Given the description of an element on the screen output the (x, y) to click on. 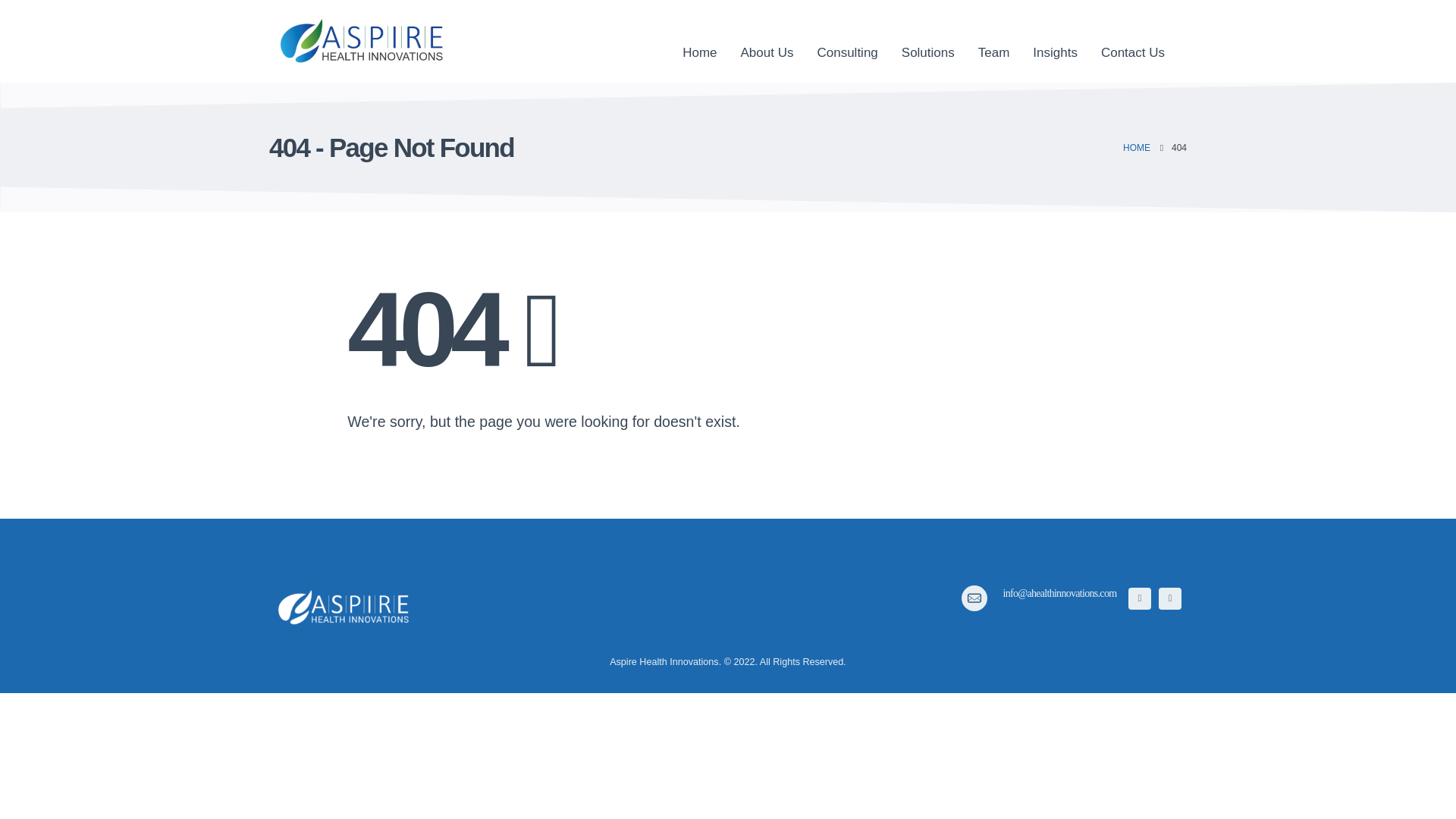
Insights (1055, 41)
Solutions (927, 41)
About Us (767, 41)
HOME (1136, 148)
LinkedIn (1169, 598)
aspire logo white (344, 607)
Contact Us (1132, 41)
Go to Home Page (1136, 148)
Twitter (1139, 598)
Consulting (846, 41)
